Given the description of an element on the screen output the (x, y) to click on. 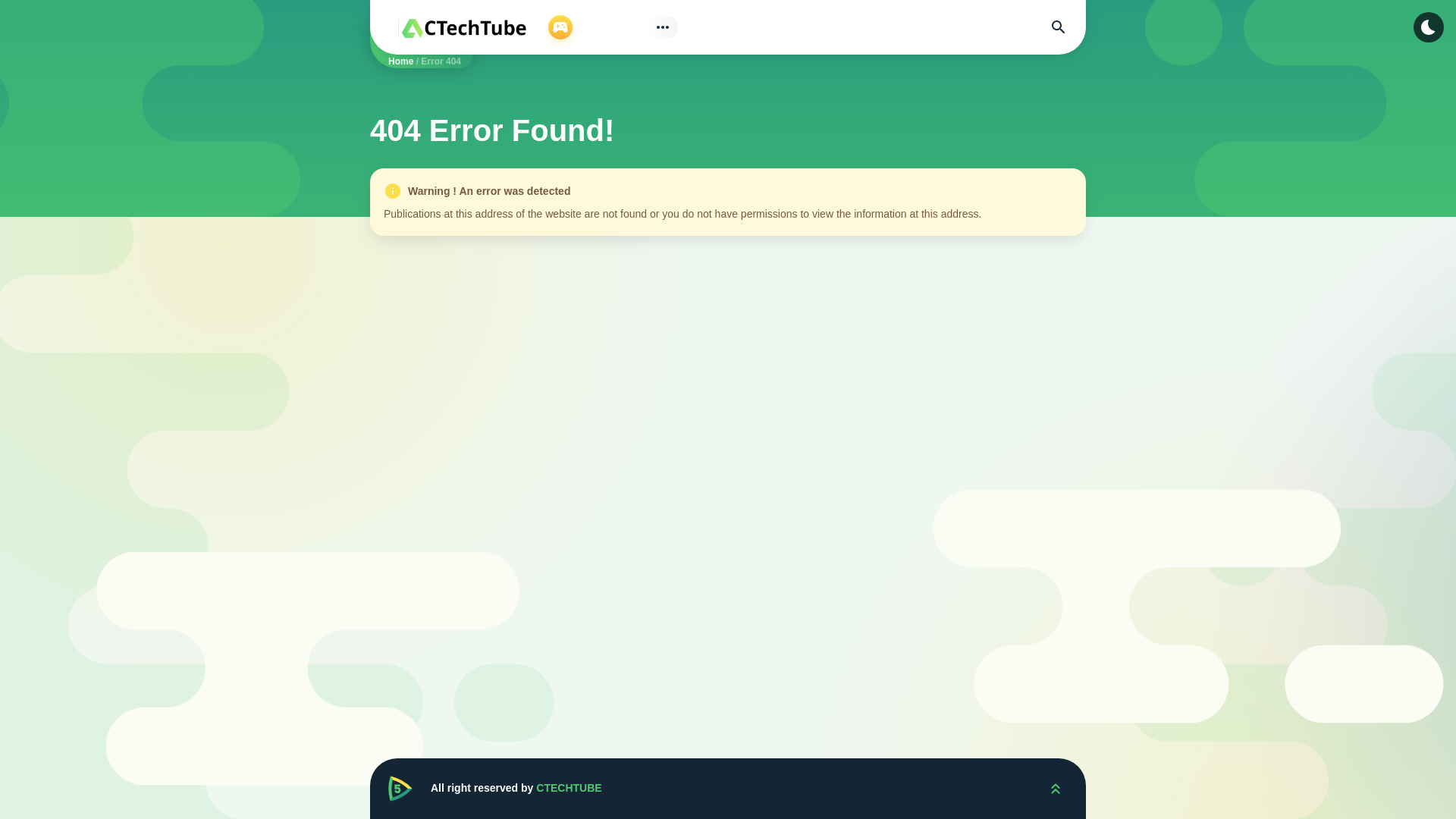
CTechTube (1055, 788)
CTechTube (462, 27)
Scroll up (1055, 788)
CTechTube (400, 788)
Find (1058, 27)
CTechTube (400, 788)
CTECHTUBE (568, 787)
Home (400, 61)
CTechTube (462, 27)
Scroll up (1055, 788)
